Given the description of an element on the screen output the (x, y) to click on. 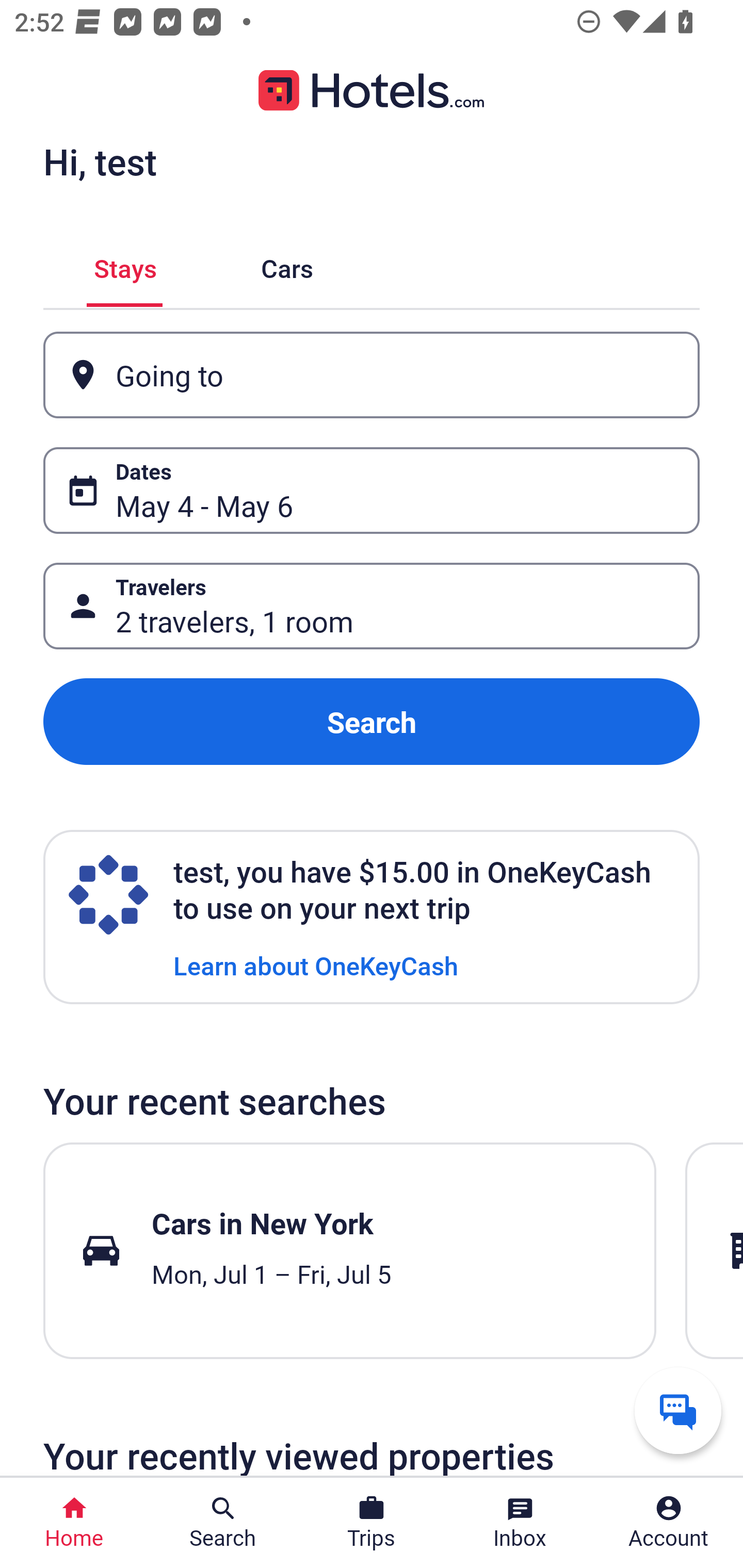
Hi, test (99, 161)
Cars (286, 265)
Going to Button (371, 375)
Dates Button May 4 - May 6 (371, 489)
Travelers Button 2 travelers, 1 room (371, 605)
Search (371, 721)
Learn about OneKeyCash Learn about OneKeyCash Link (315, 964)
Get help from a virtual agent (677, 1410)
Search Search Button (222, 1522)
Trips Trips Button (371, 1522)
Inbox Inbox Button (519, 1522)
Account Profile. Button (668, 1522)
